Given the description of an element on the screen output the (x, y) to click on. 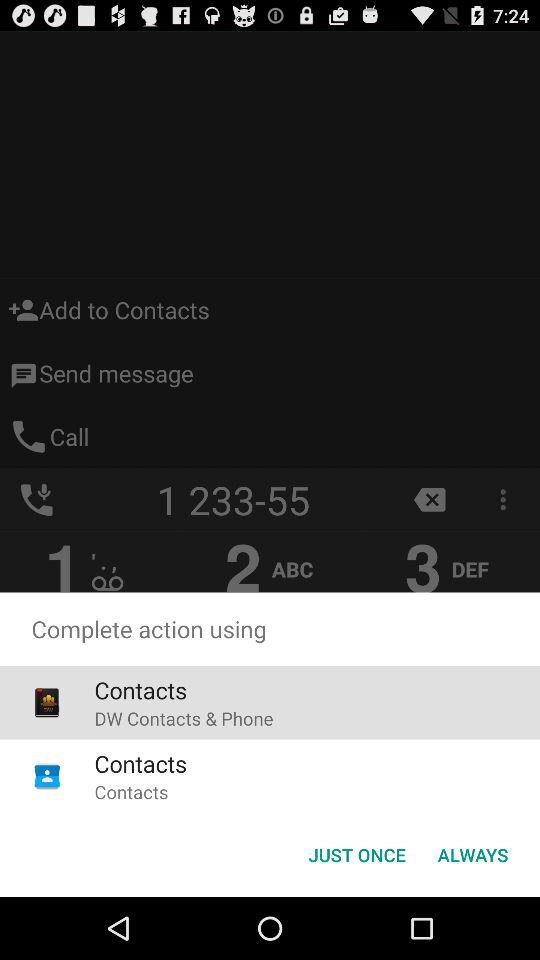
select the icon next to just once item (472, 854)
